Given the description of an element on the screen output the (x, y) to click on. 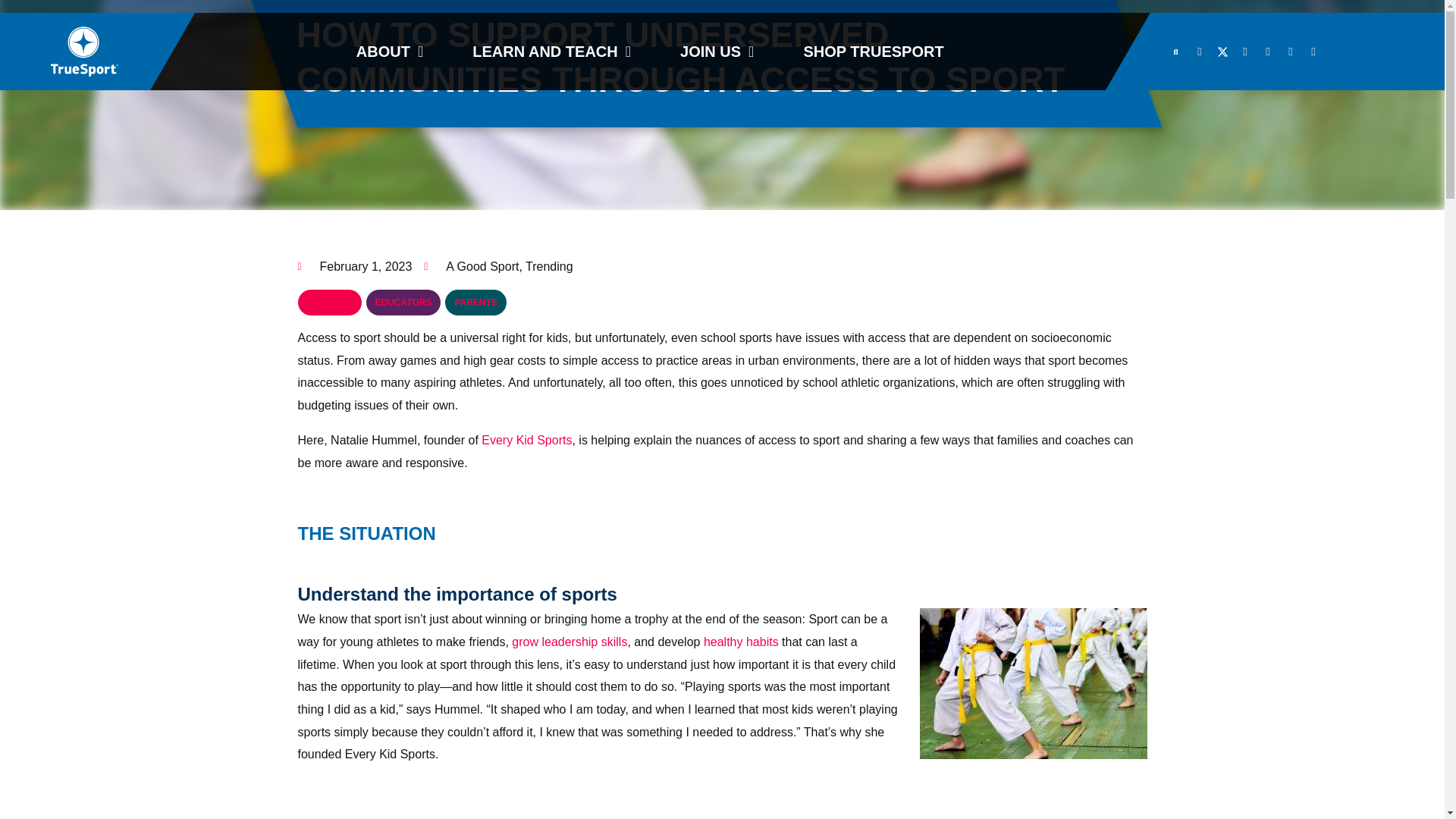
LEARN AND TEACH (551, 51)
Young people practicing karate. (1032, 683)
ABOUT (389, 51)
